Given the description of an element on the screen output the (x, y) to click on. 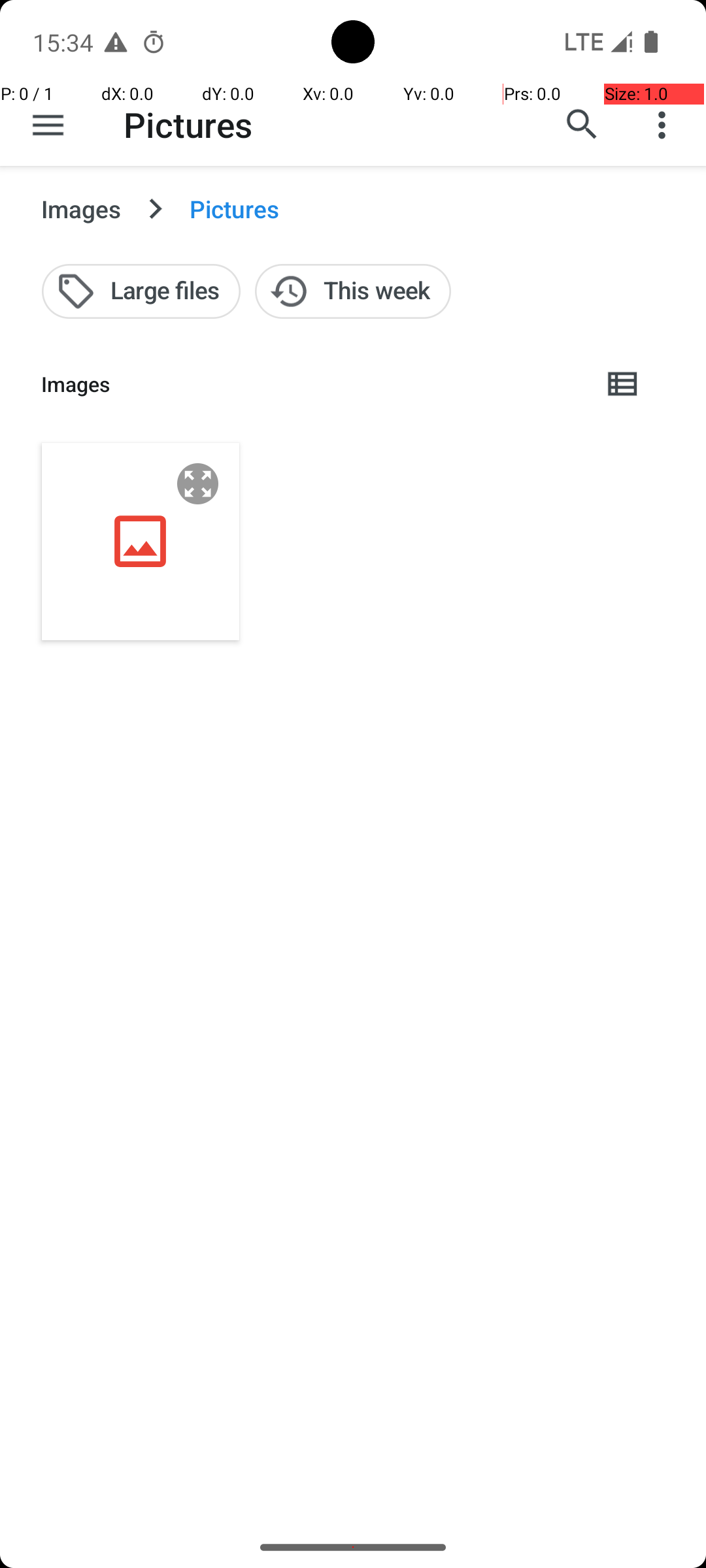
Pictures Element type: android.widget.TextView (187, 124)
IMG_20231015_153414.jpg, 145 kB, 15:34 Element type: android.widget.LinearLayout (140, 541)
Preview the file IMG_20231015_153414.jpg Element type: android.widget.FrameLayout (197, 483)
